Given the description of an element on the screen output the (x, y) to click on. 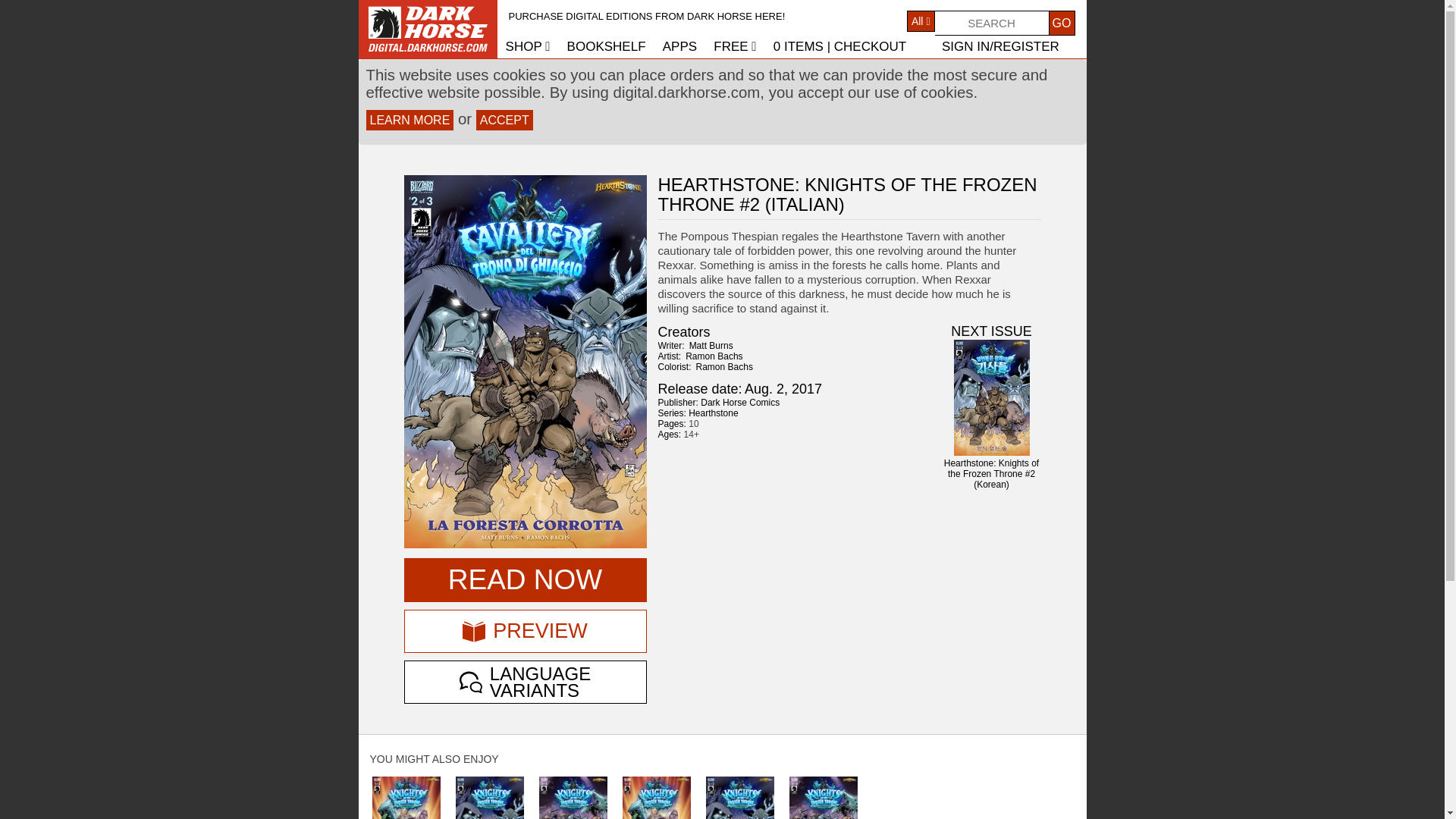
BOOKSHELF (606, 46)
APPS (679, 46)
